Given the description of an element on the screen output the (x, y) to click on. 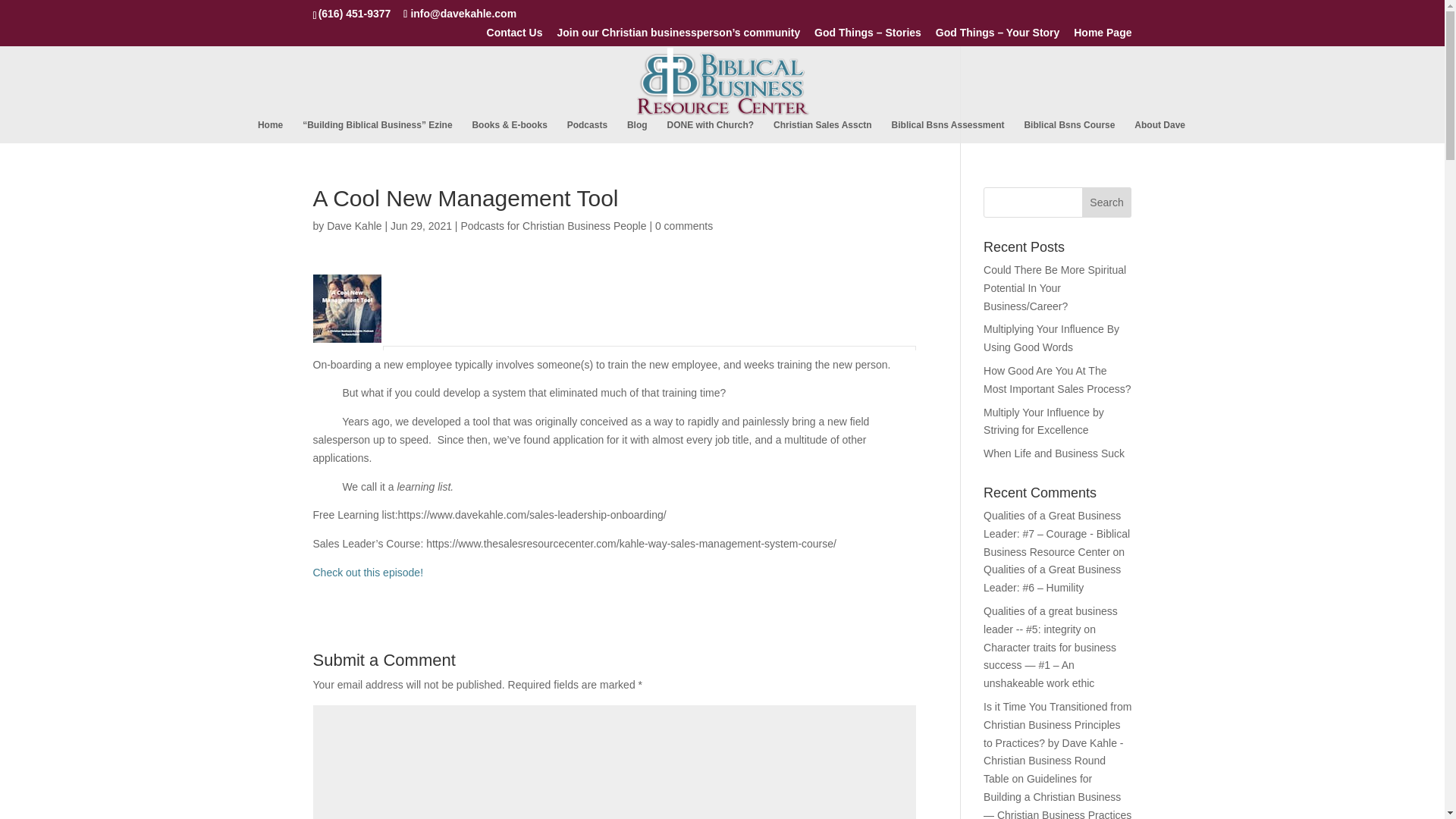
Contact Us (514, 36)
About Dave (1159, 131)
DONE with Church? (710, 131)
Christian Sales Assctn (822, 131)
Podcasts (587, 131)
Biblical Bsns Assessment (947, 131)
Biblical Bsns Course (1069, 131)
Search (1106, 202)
Home (269, 131)
Podcasts for Christian Business People (553, 225)
Posts by Dave Kahle (353, 225)
Dave Kahle (353, 225)
Check out this episode! (368, 572)
Home Page (1102, 36)
0 comments (684, 225)
